Given the description of an element on the screen output the (x, y) to click on. 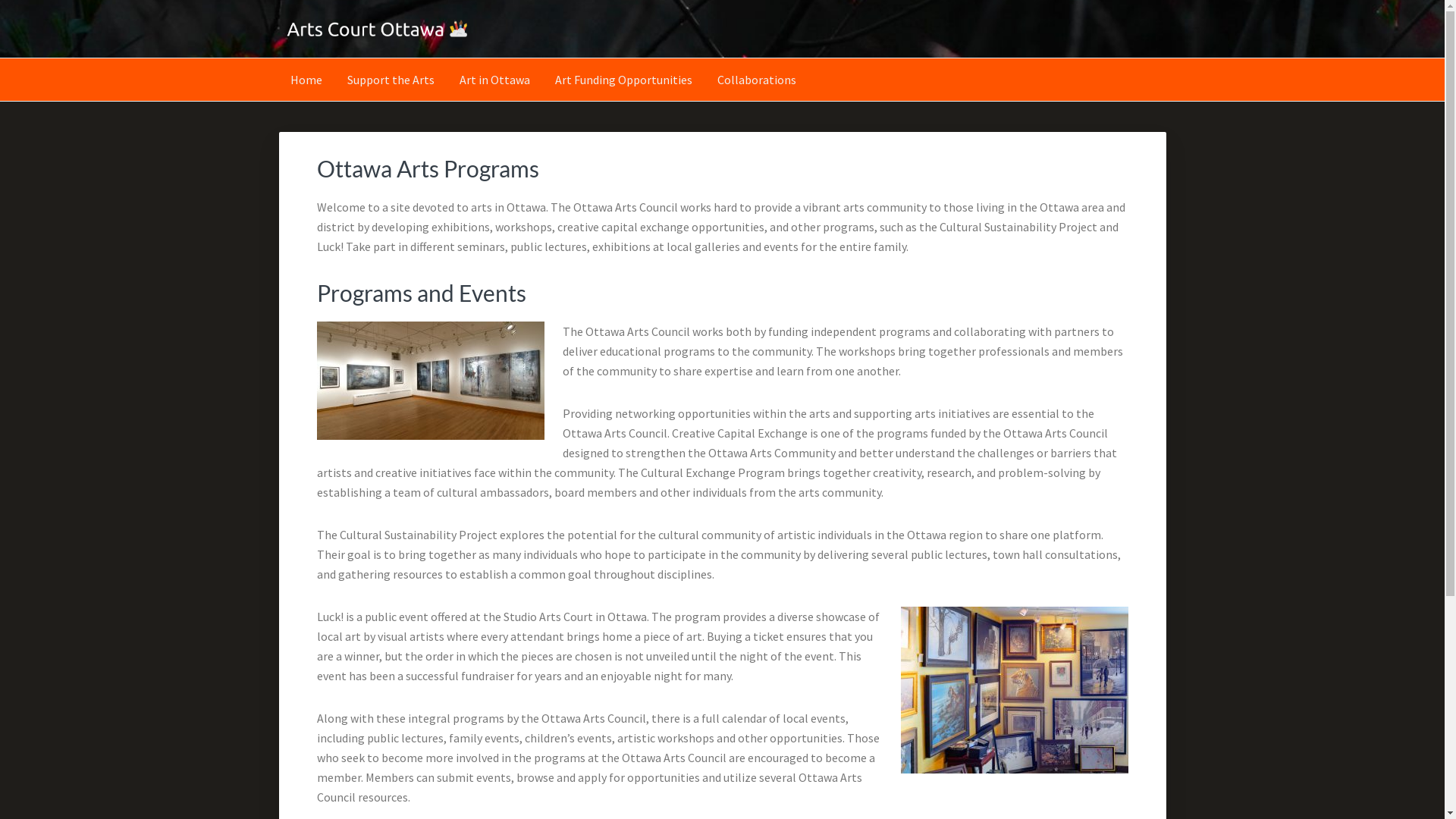
Home Element type: text (306, 79)
ARTSCOURTOTTAWA.CA Element type: text (429, 64)
Art Funding Opportunities Element type: text (622, 79)
Skip to main content Element type: text (0, 0)
Art in Ottawa Element type: text (493, 79)
Support the Arts Element type: text (390, 79)
Collaborations Element type: text (755, 79)
